Given the description of an element on the screen output the (x, y) to click on. 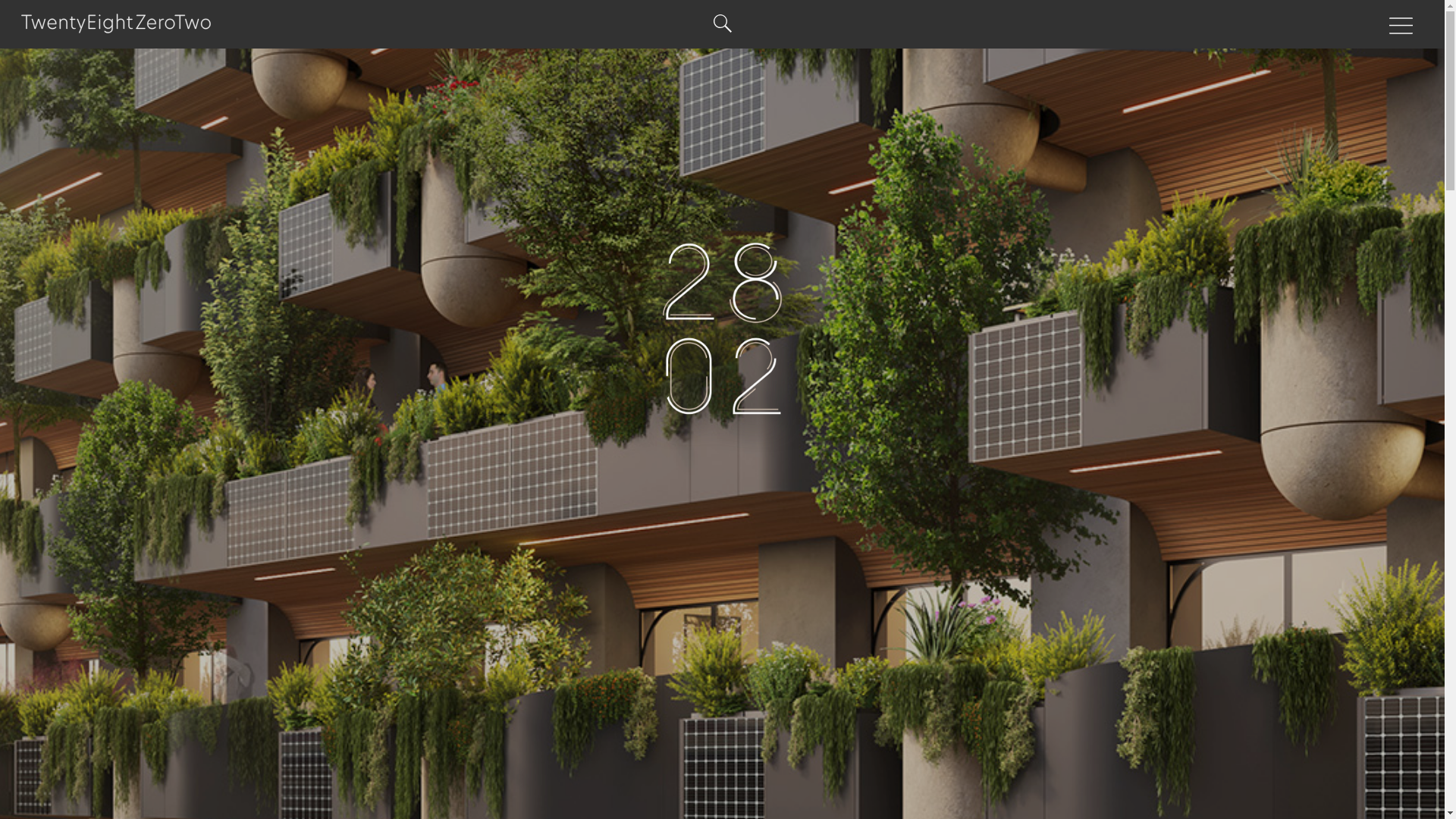
Primary Menu Element type: text (1401, 25)
